Given the description of an element on the screen output the (x, y) to click on. 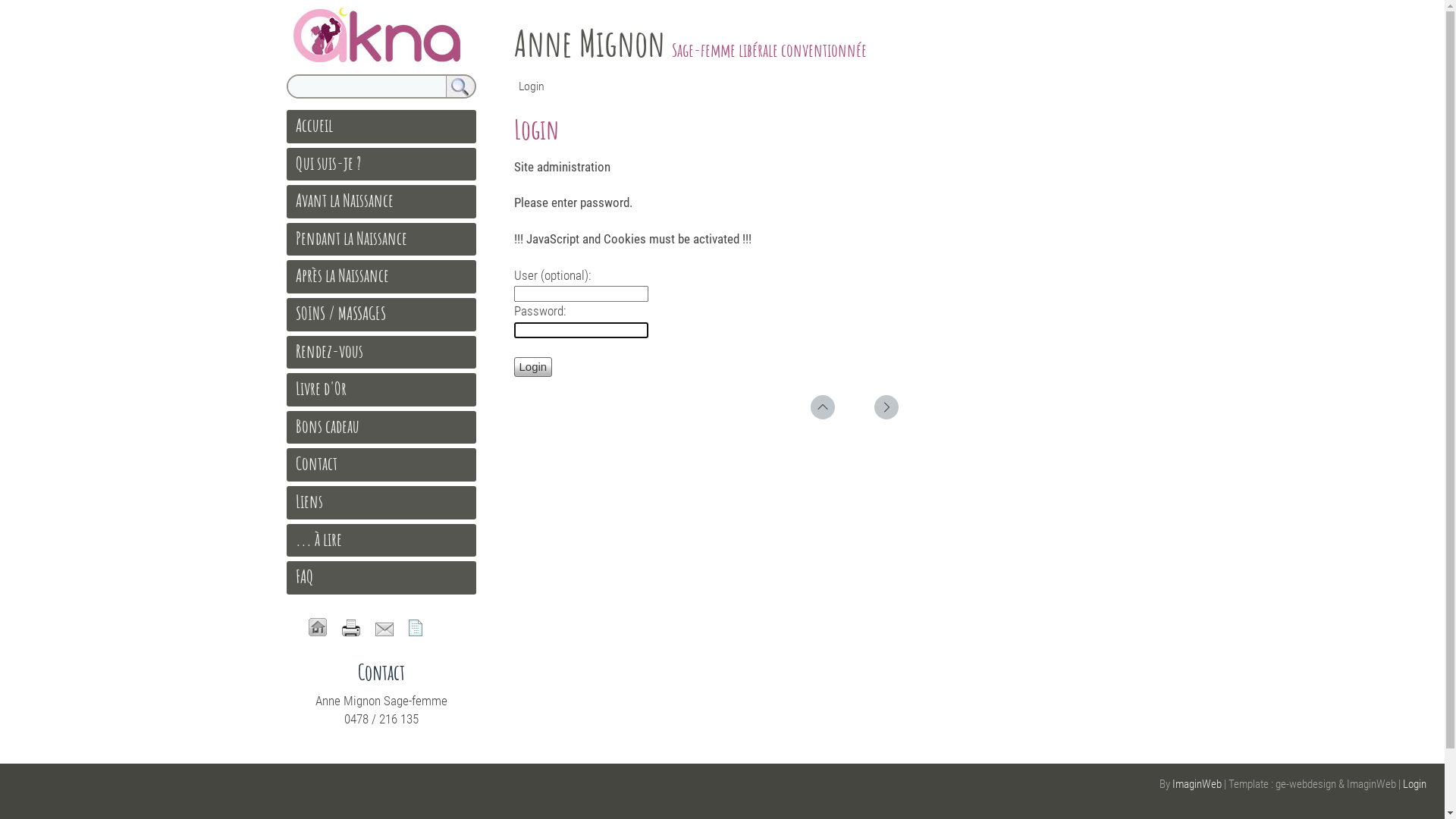
ImaginWeb Element type: text (1196, 783)
Pendant la Naissance Element type: text (351, 237)
Home Element type: hover (316, 627)
FAQ Element type: text (304, 575)
Liens Element type: text (309, 500)
SOINS / MASSAGES Element type: text (340, 312)
Mailform Element type: hover (383, 629)
Accueil Element type: text (313, 124)
Contact Element type: text (316, 462)
top Element type: hover (821, 407)
Print view Element type: hover (350, 627)
Avant la Naissance Element type: text (344, 199)
Rendez-vous Element type: text (329, 350)
Login Element type: text (1414, 783)
Search Element type: hover (460, 86)
Login Element type: text (533, 366)
Livre d'Or Element type: text (320, 387)
Qui suis-je ? Element type: text (327, 162)
Sitemap Element type: hover (414, 627)
Bons cadeau Element type: text (327, 425)
